Given the description of an element on the screen output the (x, y) to click on. 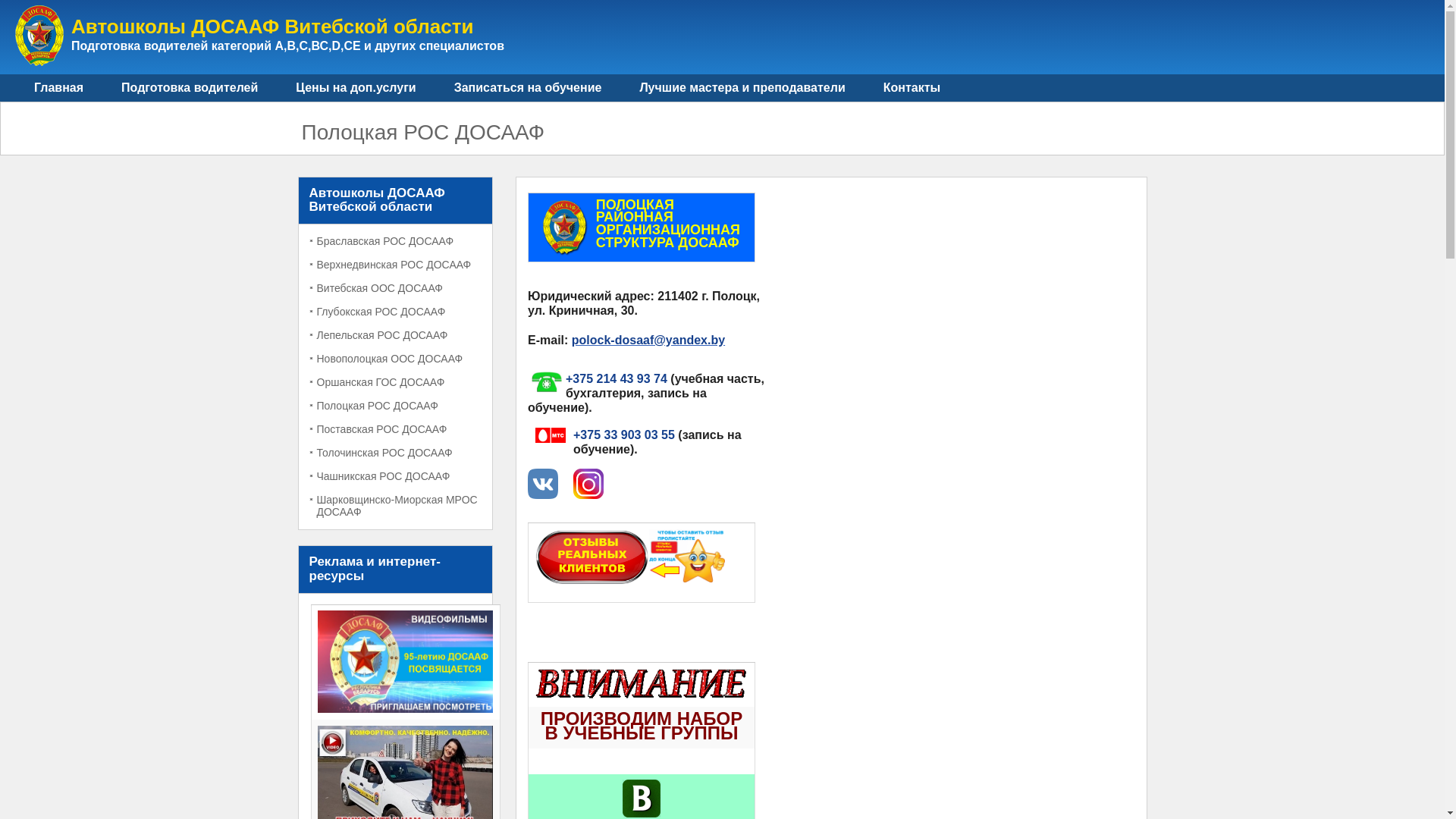
+375 33 903 03 55 Element type: text (623, 434)
+375 214 43 93 74 Element type: text (616, 378)
polock-dosaaf@yandex.by Element type: text (647, 339)
